Given the description of an element on the screen output the (x, y) to click on. 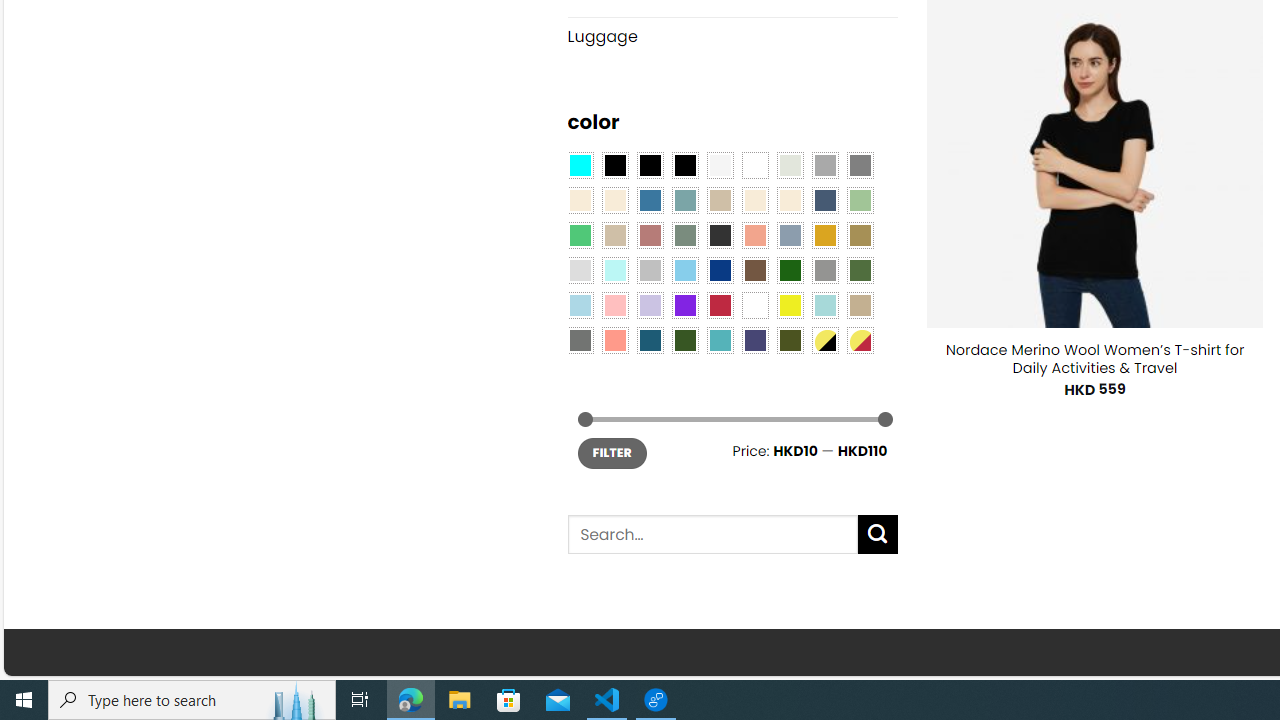
Coral (755, 234)
Forest (684, 339)
All Gray (859, 164)
Navy Blue (719, 269)
FILTER (612, 452)
Mint (614, 269)
Light Purple (650, 305)
Hale Navy (824, 200)
Pink (614, 305)
Ash Gray (789, 164)
Red (719, 305)
White (755, 305)
Dark Green (789, 269)
Khaki (859, 305)
Luggage (732, 36)
